Given the description of an element on the screen output the (x, y) to click on. 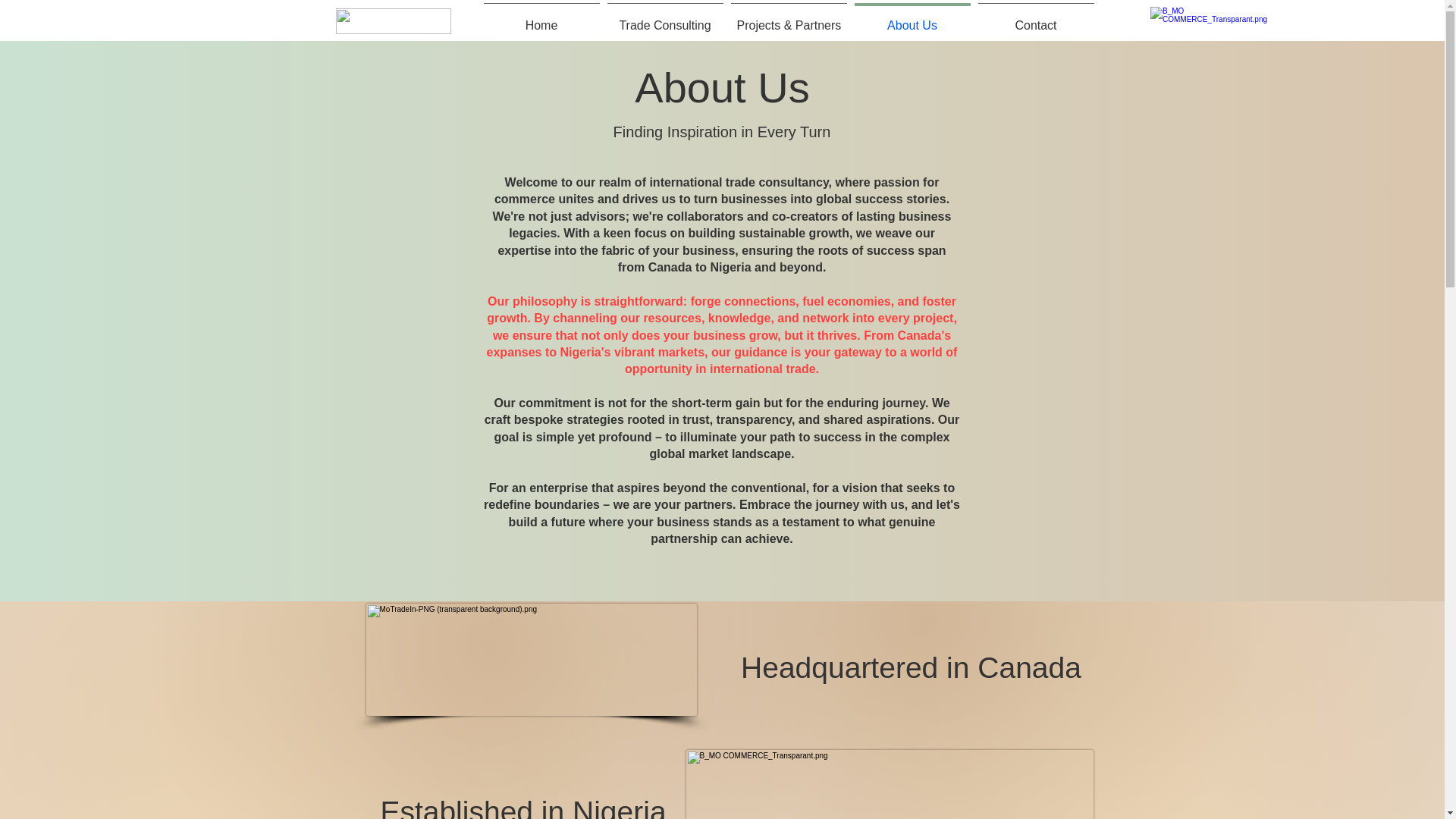
Trade Consulting (665, 18)
Contact (1035, 18)
Home (540, 18)
About Us (912, 18)
